Given the description of an element on the screen output the (x, y) to click on. 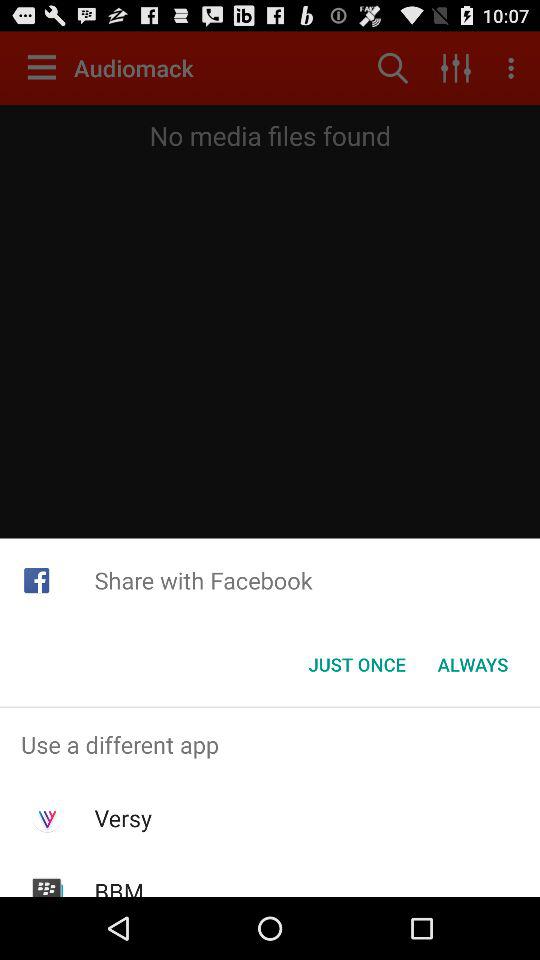
scroll to just once icon (356, 664)
